Given the description of an element on the screen output the (x, y) to click on. 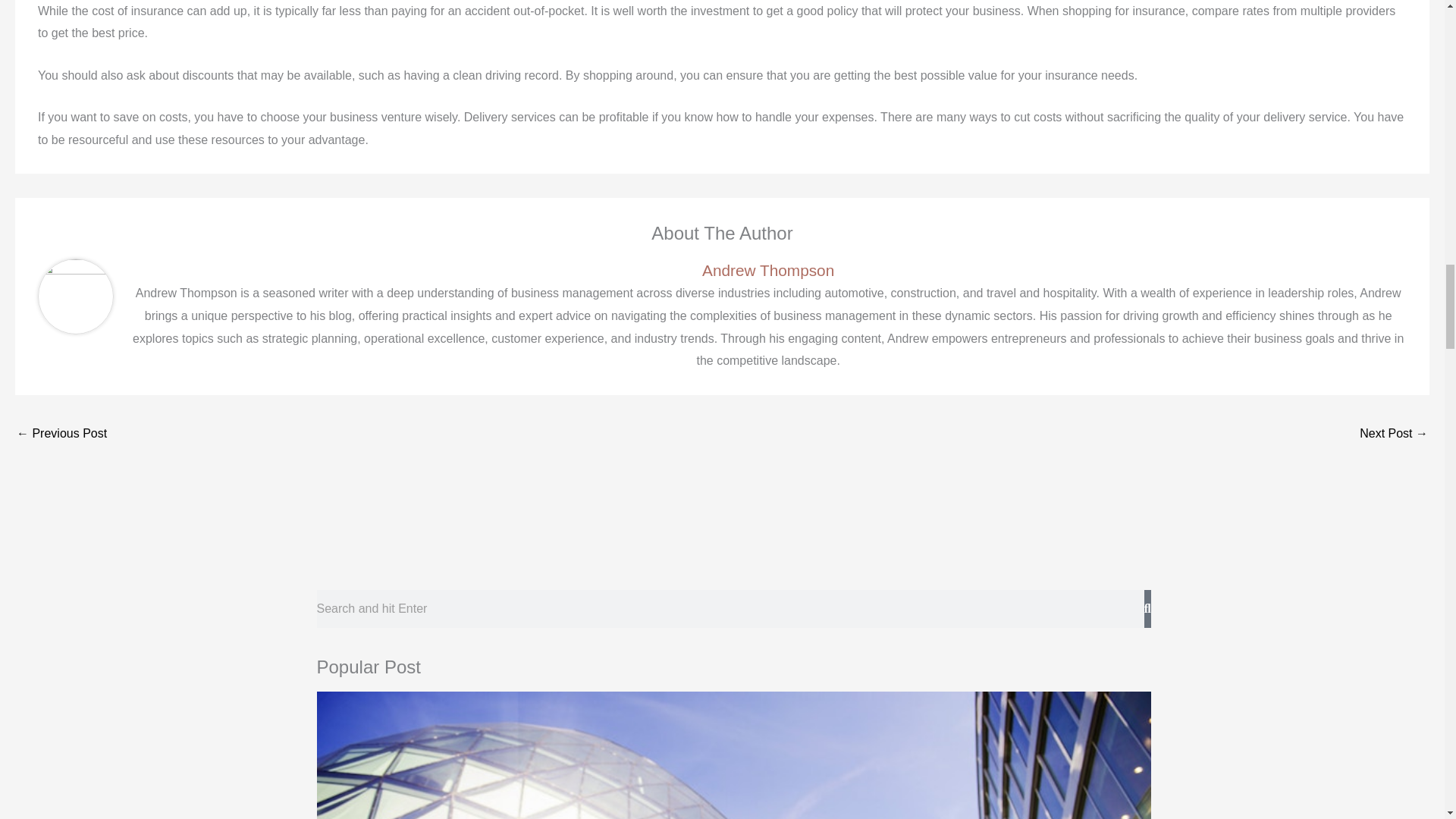
A Professional Services Guide for Your Manufacturing Needs (61, 434)
Andrew Thompson (767, 269)
Managing Your Finances for Healthcare (1393, 434)
